Given the description of an element on the screen output the (x, y) to click on. 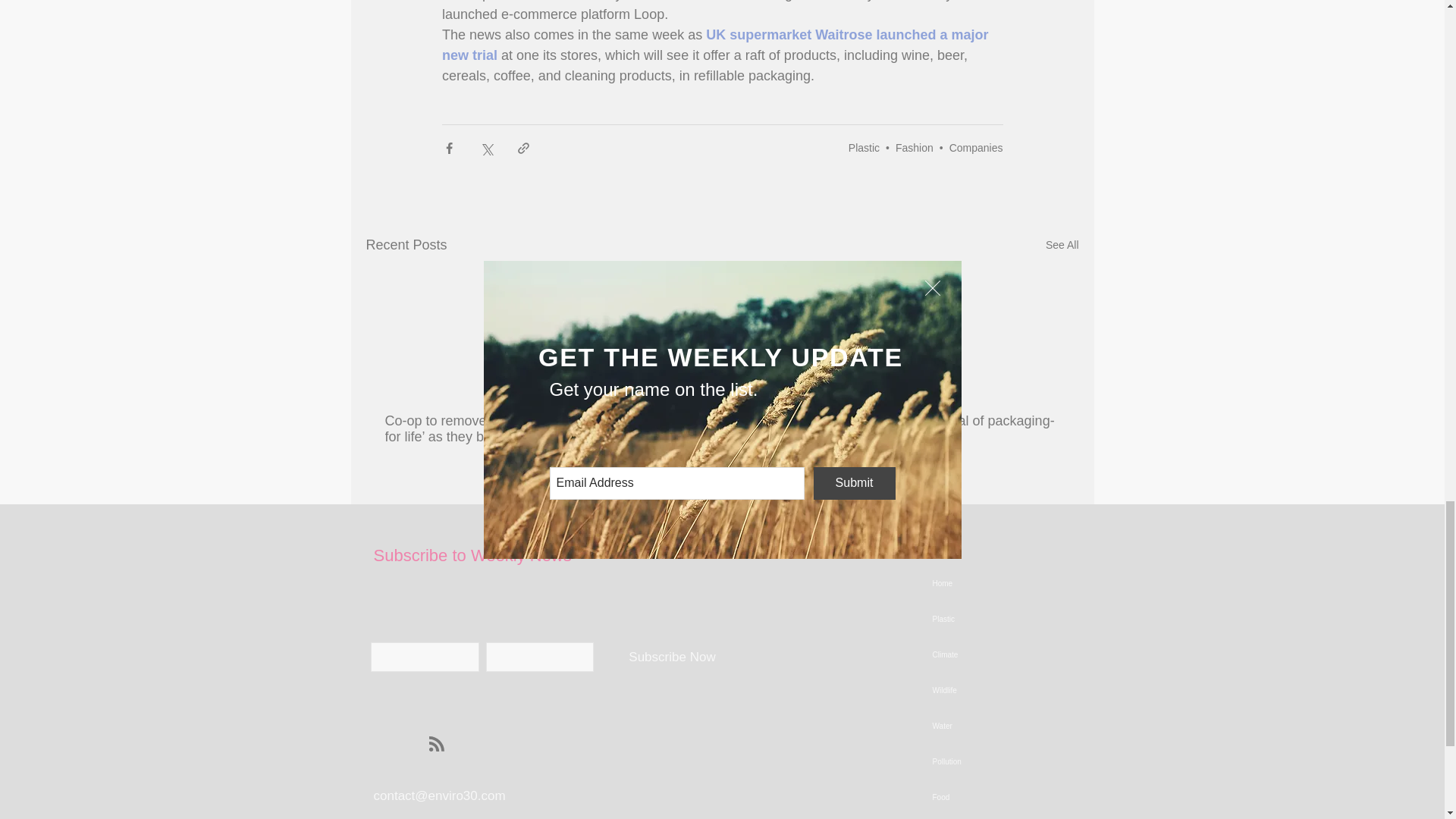
Plastic (863, 146)
Morrisons removes all plastic bags for life from UK stores (721, 429)
Aldi launch trial of packaging-free products (967, 429)
Subscribe Now (672, 656)
Companies (976, 146)
UK supermarket Waitrose launched a major new trial (716, 45)
Fashion (914, 146)
Subscribe to Weekly News (471, 555)
See All (1061, 245)
